Given the description of an element on the screen output the (x, y) to click on. 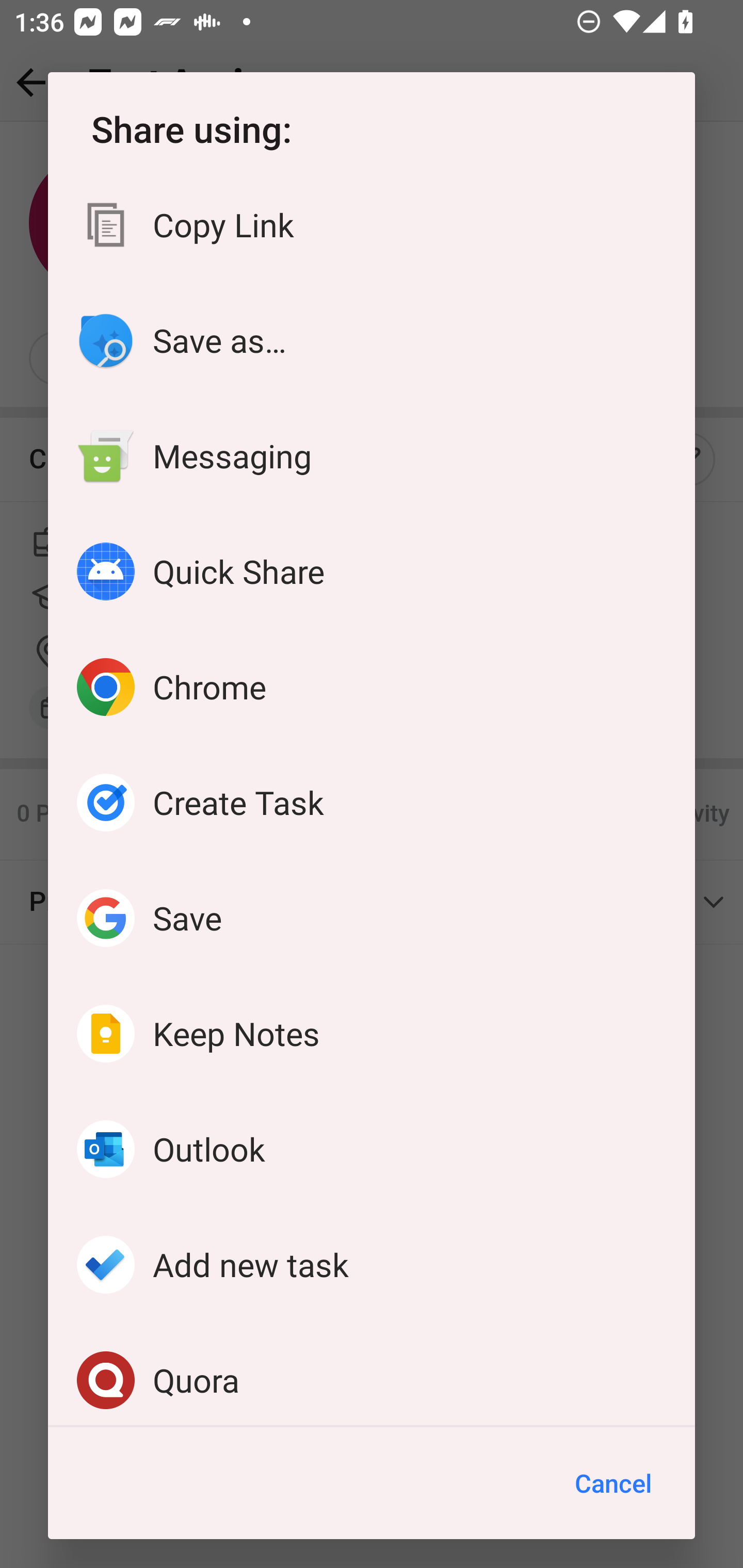
Copy Link (371, 224)
Save as… (371, 340)
Messaging (371, 456)
Quick Share (371, 571)
Chrome (371, 686)
Create Task (371, 802)
Save (371, 917)
Keep Notes (371, 1033)
Outlook (371, 1149)
Add new task (371, 1264)
Quora (371, 1373)
Cancel (612, 1482)
